Given the description of an element on the screen output the (x, y) to click on. 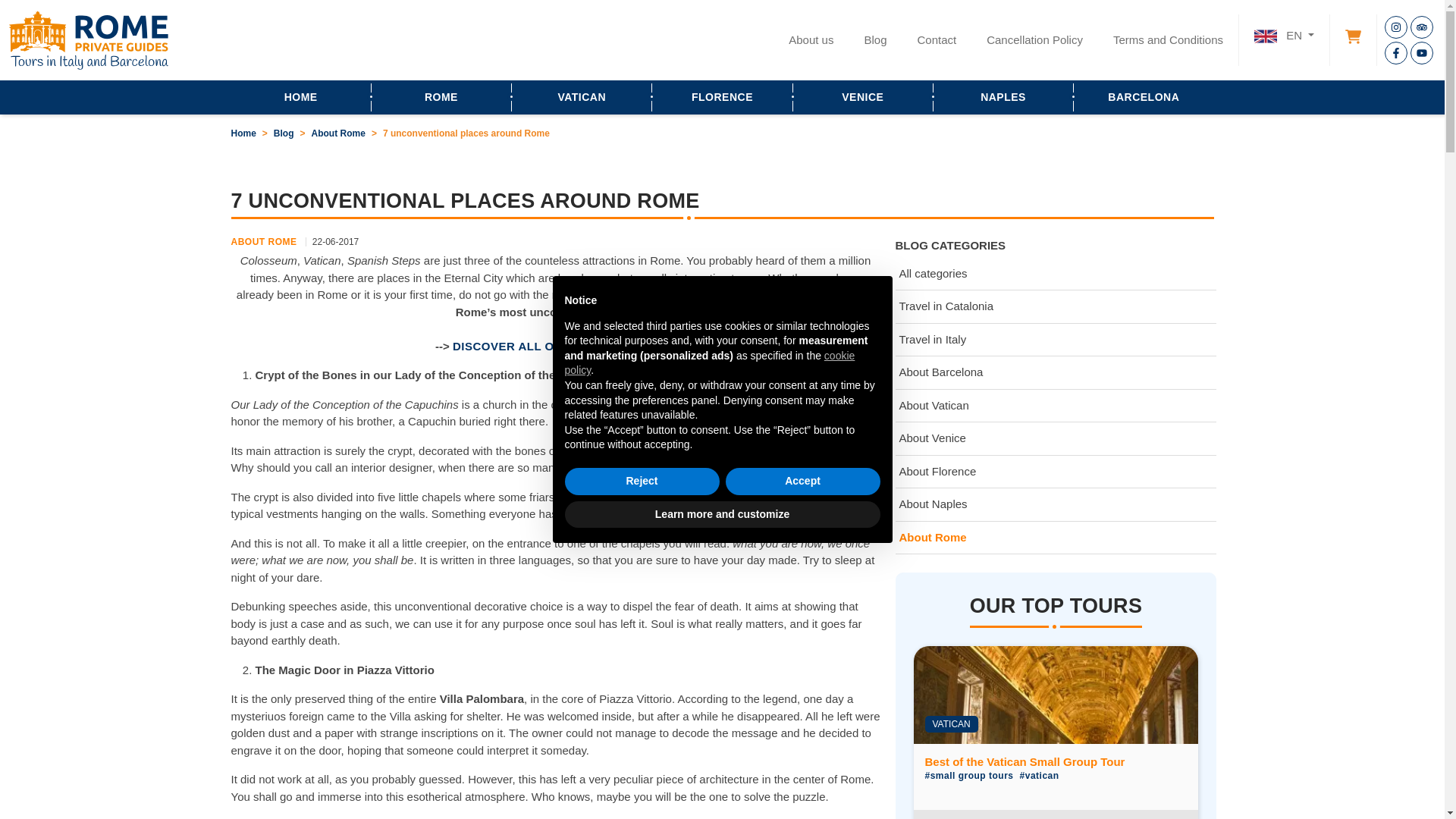
Home (243, 132)
About Rome (338, 132)
Terms and Conditions (1168, 40)
Contact (936, 40)
BARCELONA (1143, 97)
HOME (299, 97)
All categories (1055, 273)
Cancellation Policy (1034, 40)
Blog (283, 132)
FLORENCE (722, 97)
